Given the description of an element on the screen output the (x, y) to click on. 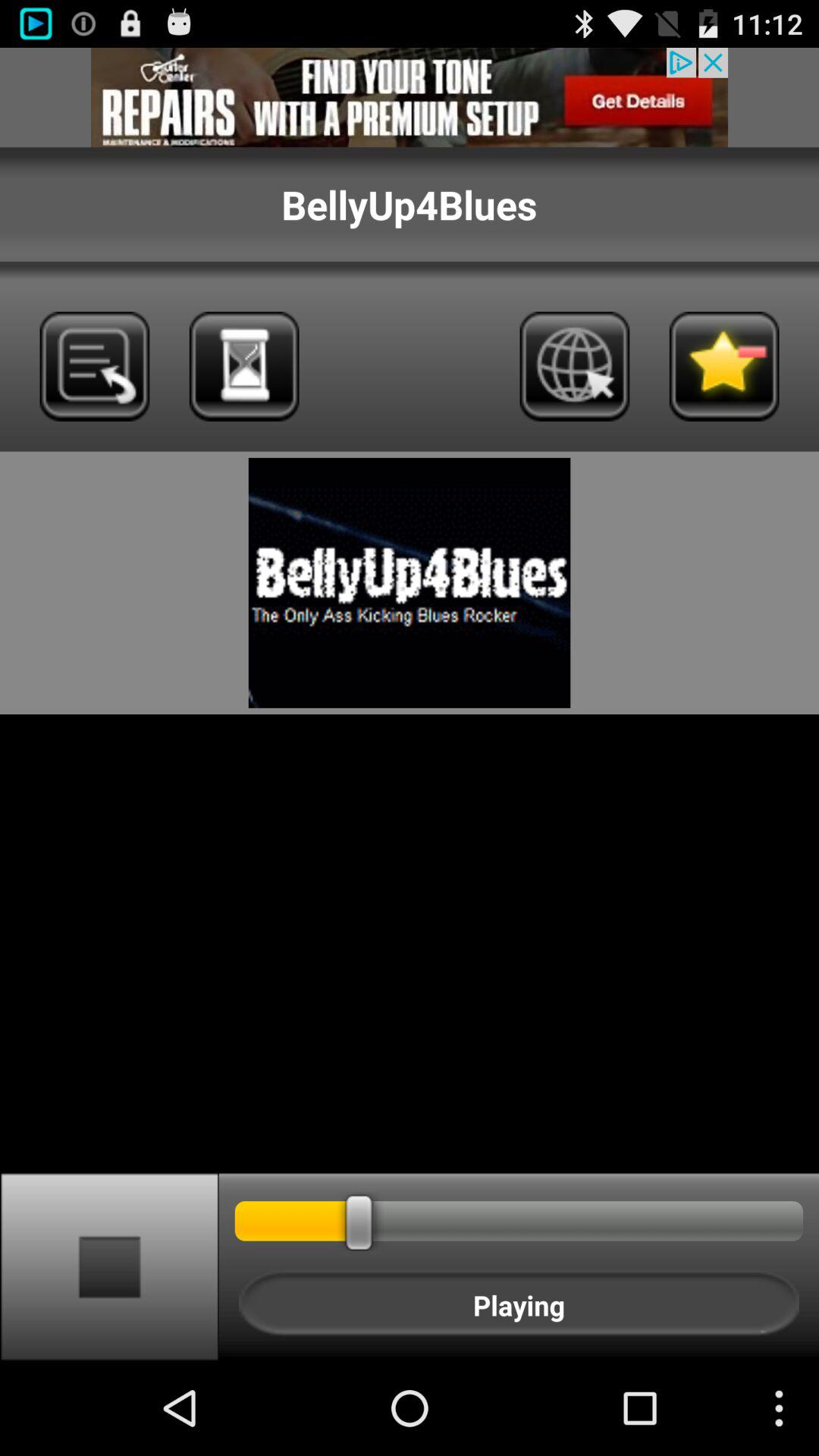
open advertisement (409, 97)
